Given the description of an element on the screen output the (x, y) to click on. 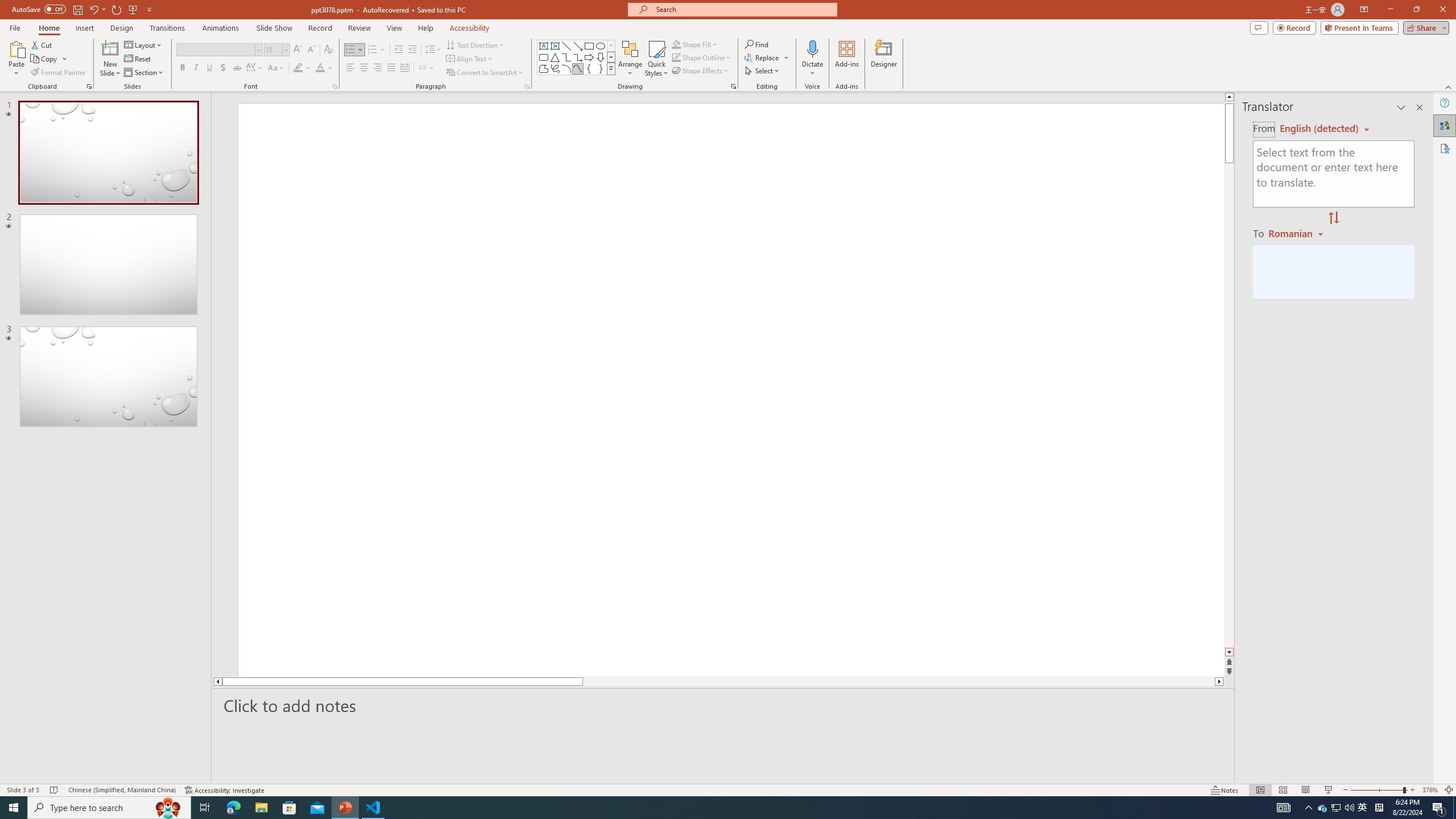
Freeform: Scribble (554, 68)
Rectangle: Rounded Corners (543, 57)
Swap "from" and "to" languages. (1333, 218)
An abstract genetic concept (731, 396)
Increase Font Size (297, 49)
Section (144, 72)
Font Size (276, 49)
Designer (883, 58)
Columns (426, 67)
Accessibility Checker Accessibility: Investigate (224, 790)
AutomationID: ShapesInsertGallery (576, 57)
New Slide (110, 58)
Font (219, 49)
Layout (143, 44)
